Given the description of an element on the screen output the (x, y) to click on. 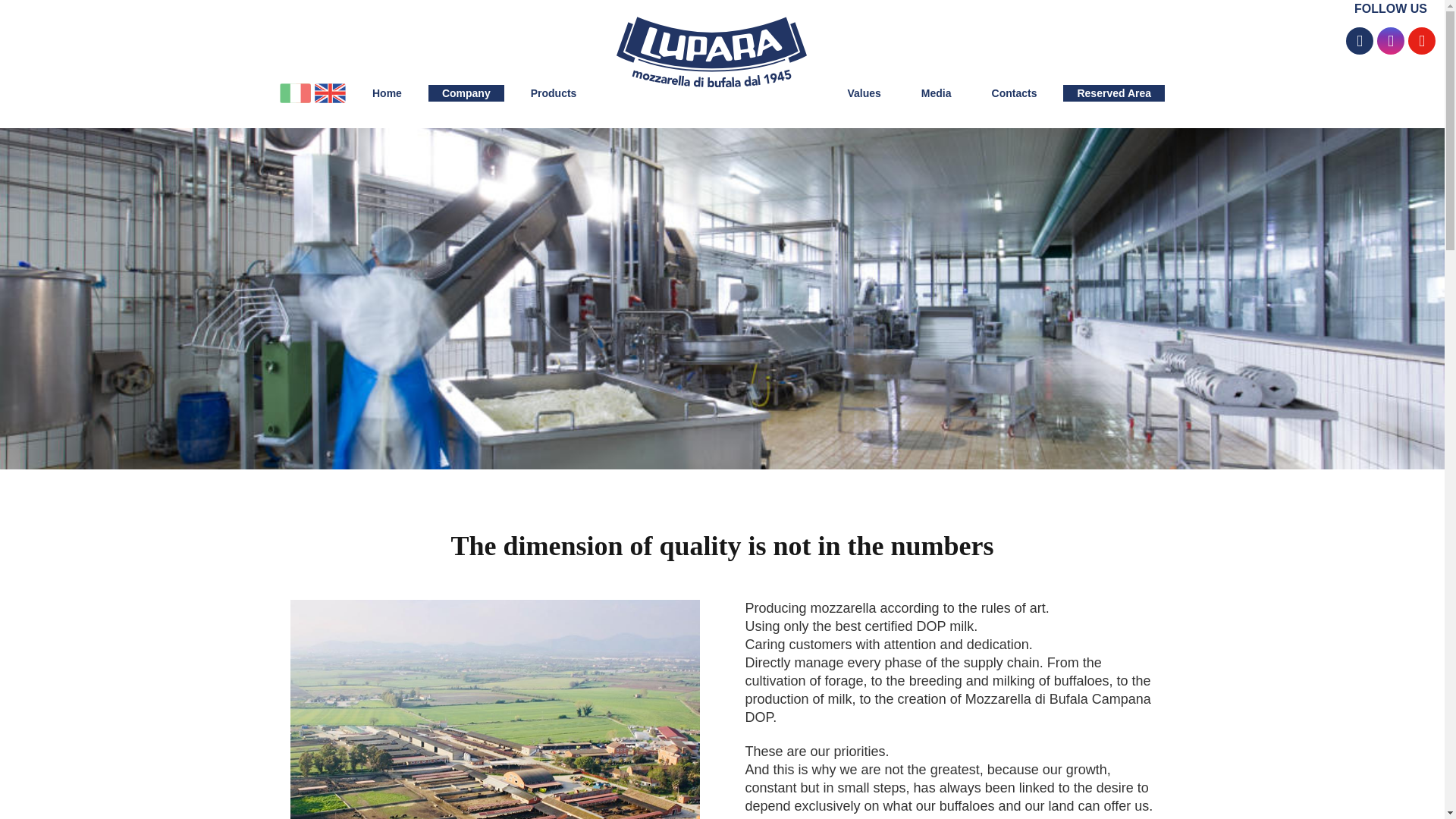
Media (936, 93)
Values (862, 93)
Reserved Area (1113, 93)
Products (553, 93)
Contacts (1014, 93)
Company (465, 93)
Home (386, 93)
